Given the description of an element on the screen output the (x, y) to click on. 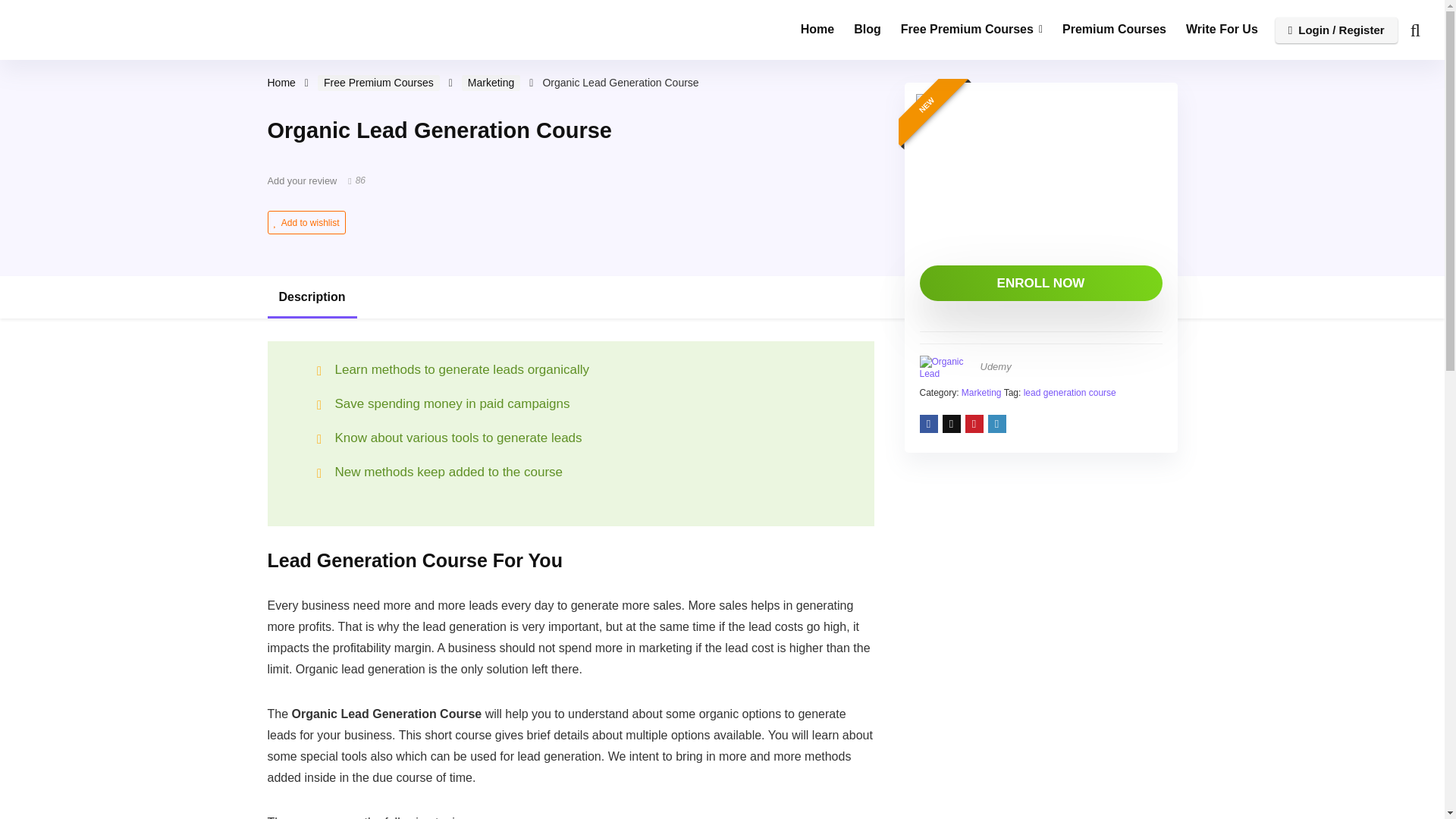
Udemy (994, 366)
ENROLL NOW (1039, 283)
Write For Us (1222, 29)
Home (280, 82)
Premium Courses (1114, 29)
lead generation course (1069, 392)
Blog (867, 29)
Description (311, 297)
Description (569, 297)
Free Premium Courses (971, 29)
